Given the description of an element on the screen output the (x, y) to click on. 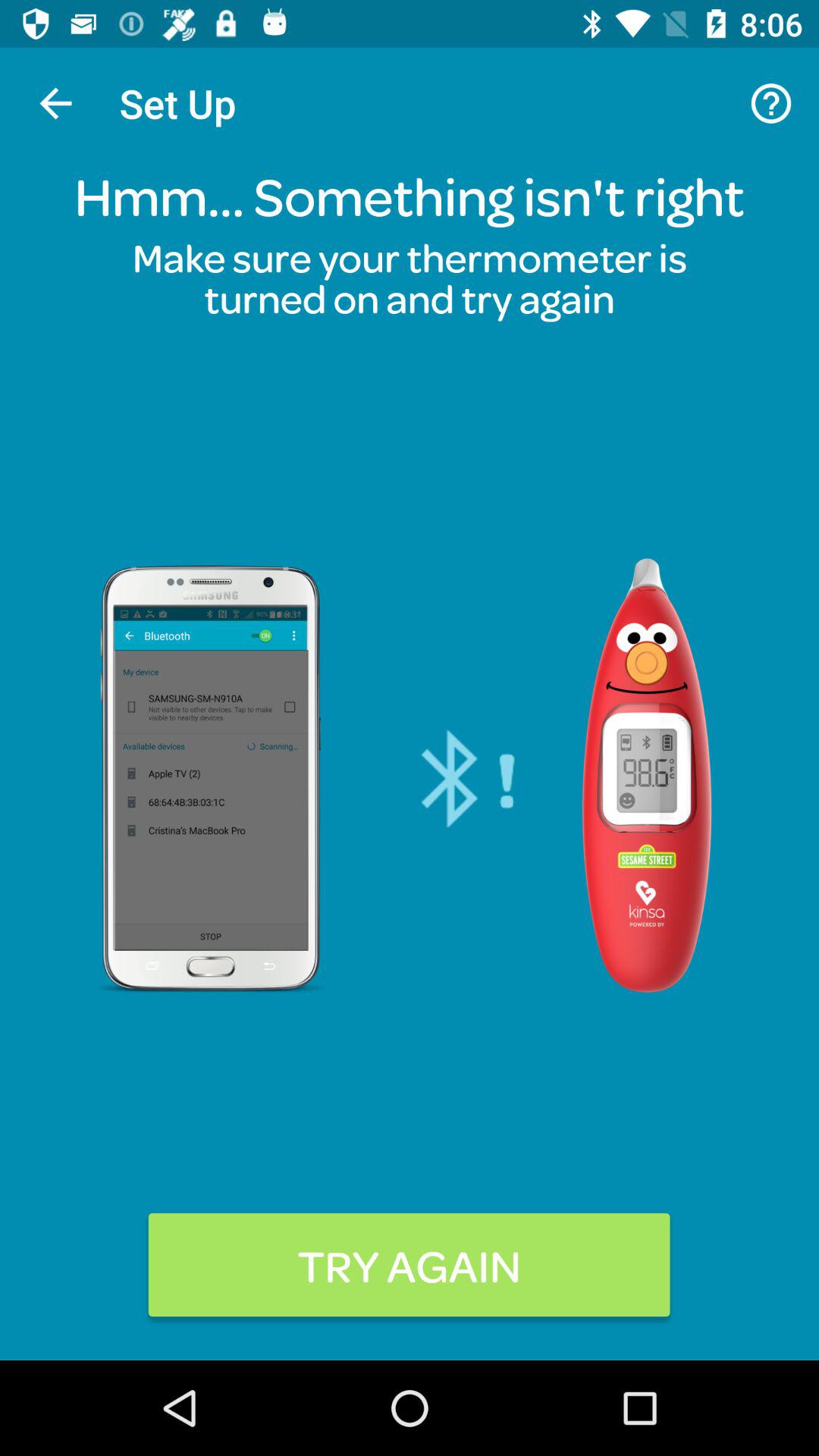
tap the icon above hmm something isn icon (55, 103)
